Given the description of an element on the screen output the (x, y) to click on. 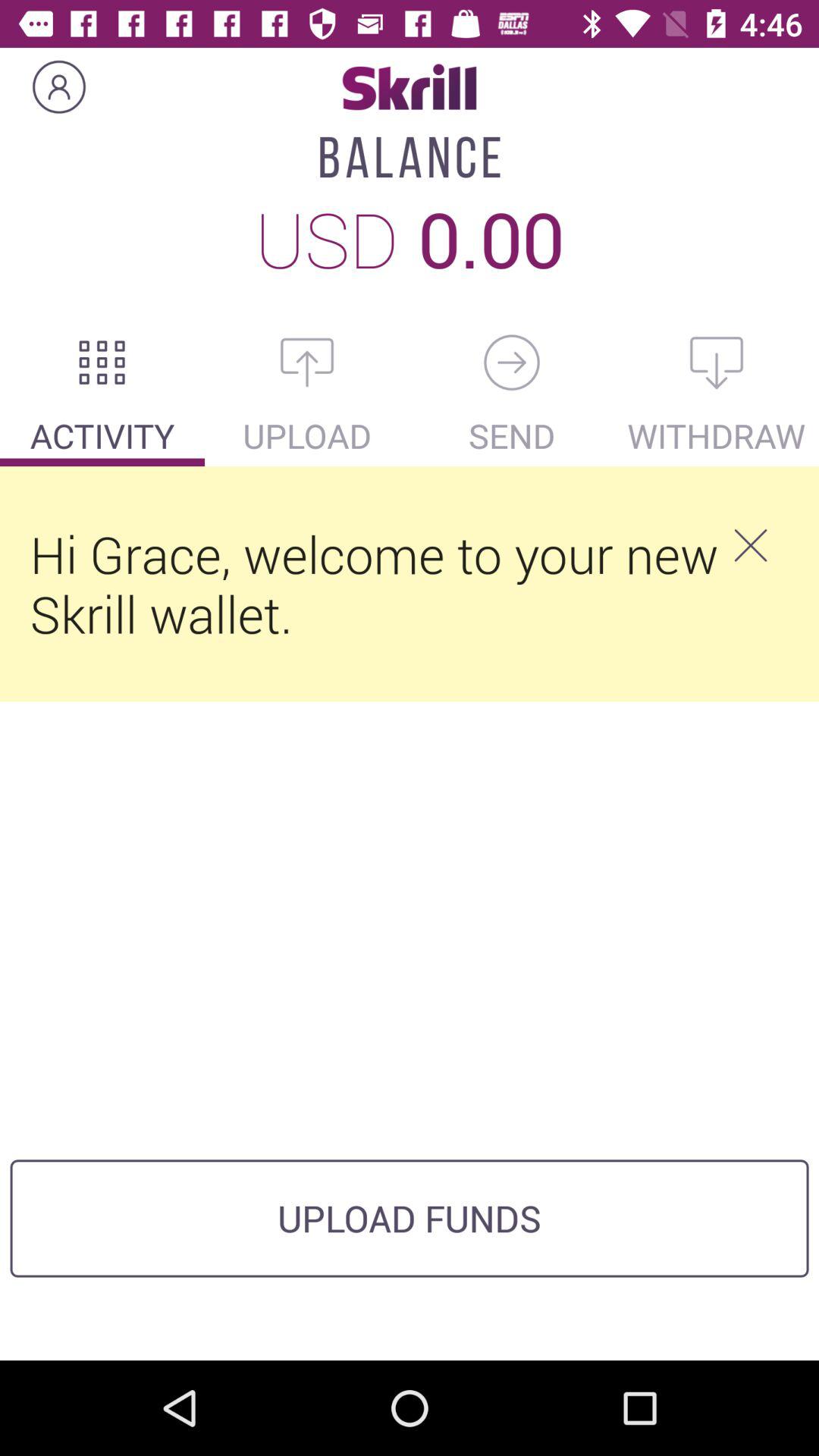
view account activity (102, 362)
